Given the description of an element on the screen output the (x, y) to click on. 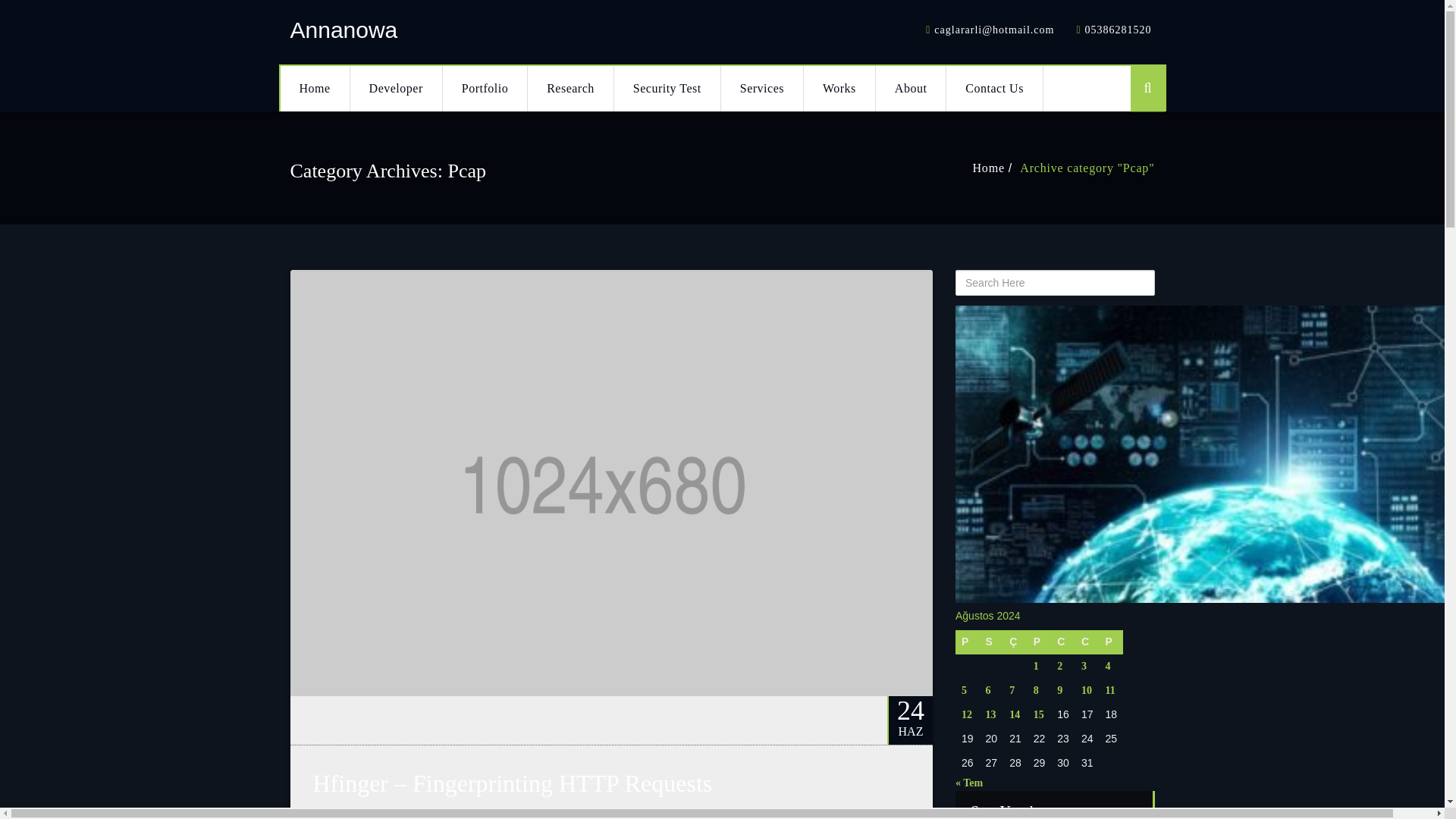
Cuma (1063, 641)
Archive category "Pcap" (1098, 167)
About (911, 88)
Cumartesi (1087, 641)
Developer (396, 88)
Pazar (1110, 641)
Home (315, 88)
Annanowa (343, 29)
Home (315, 88)
Contact Us (994, 88)
